Given the description of an element on the screen output the (x, y) to click on. 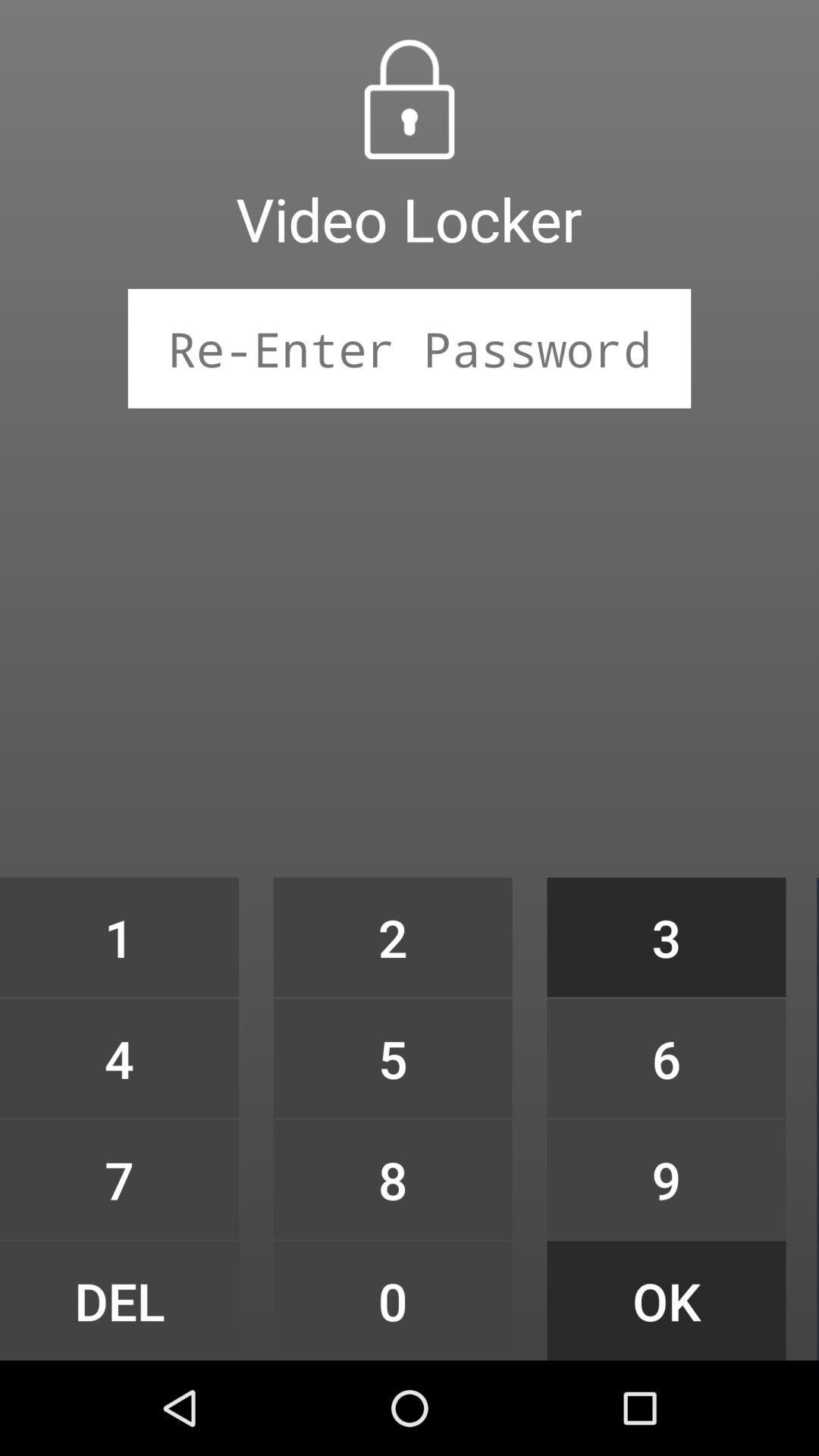
open item next to 8 icon (119, 1300)
